Given the description of an element on the screen output the (x, y) to click on. 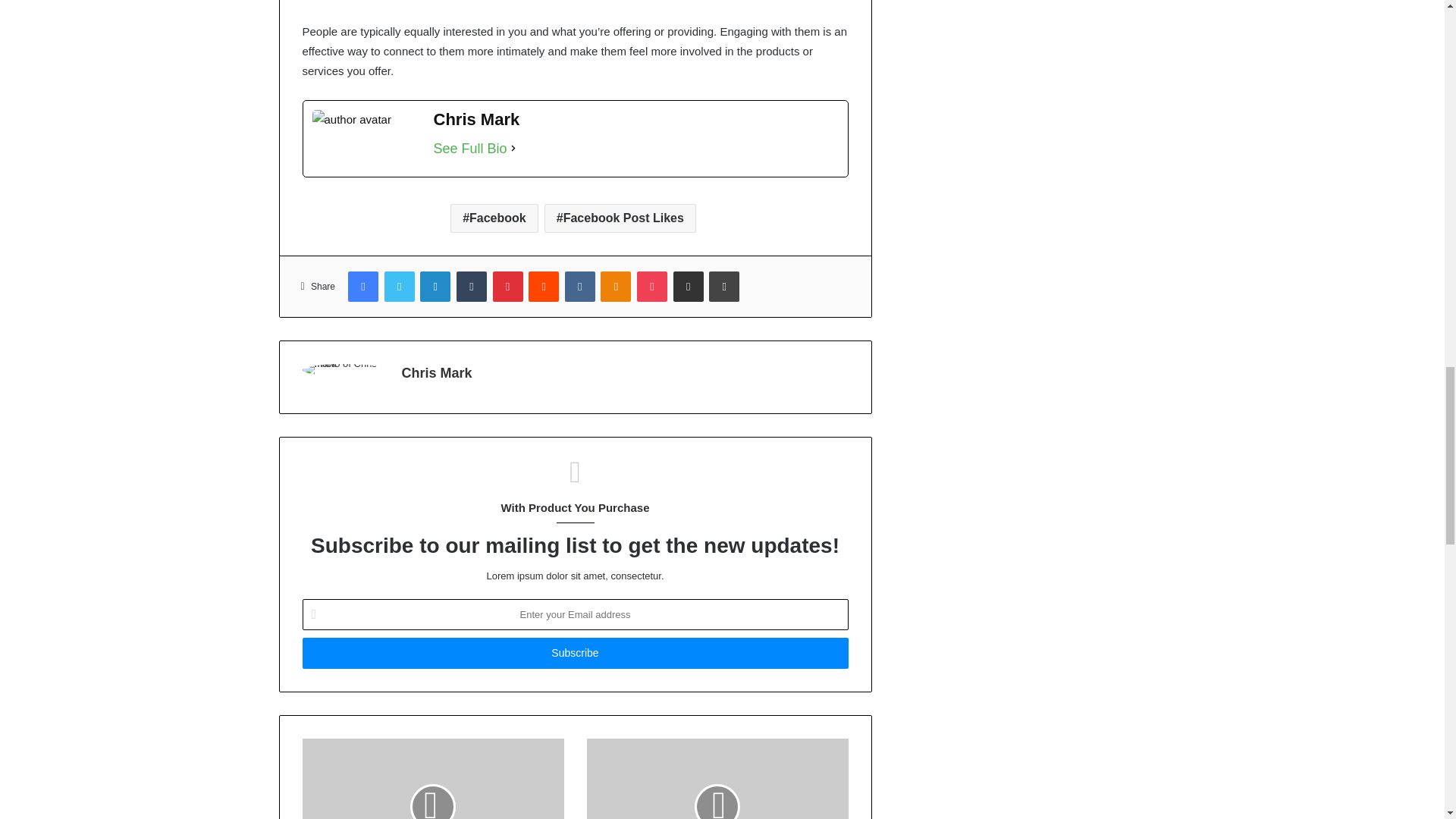
Subscribe (574, 653)
